Given the description of an element on the screen output the (x, y) to click on. 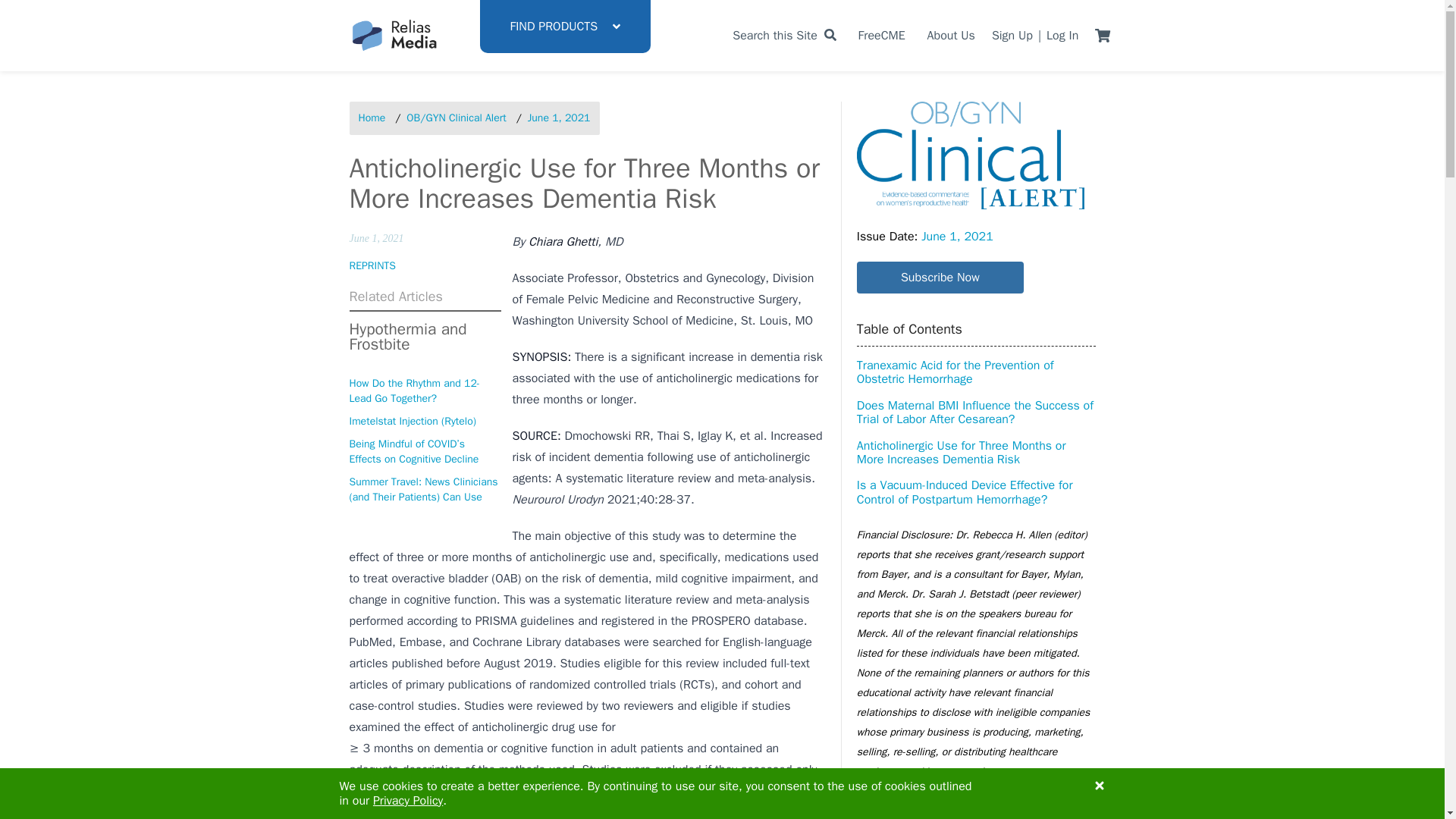
FreeCME (882, 35)
FIND PRODUCTS (564, 26)
Sign Up (1011, 35)
Search this Site (783, 35)
How Do the Rhythm and 12-Lead Go Together? (424, 390)
Hypothermia and Frostbite (424, 336)
Log In (1062, 35)
About Us (951, 35)
Home (371, 117)
June 1, 2021 (559, 117)
